Given the description of an element on the screen output the (x, y) to click on. 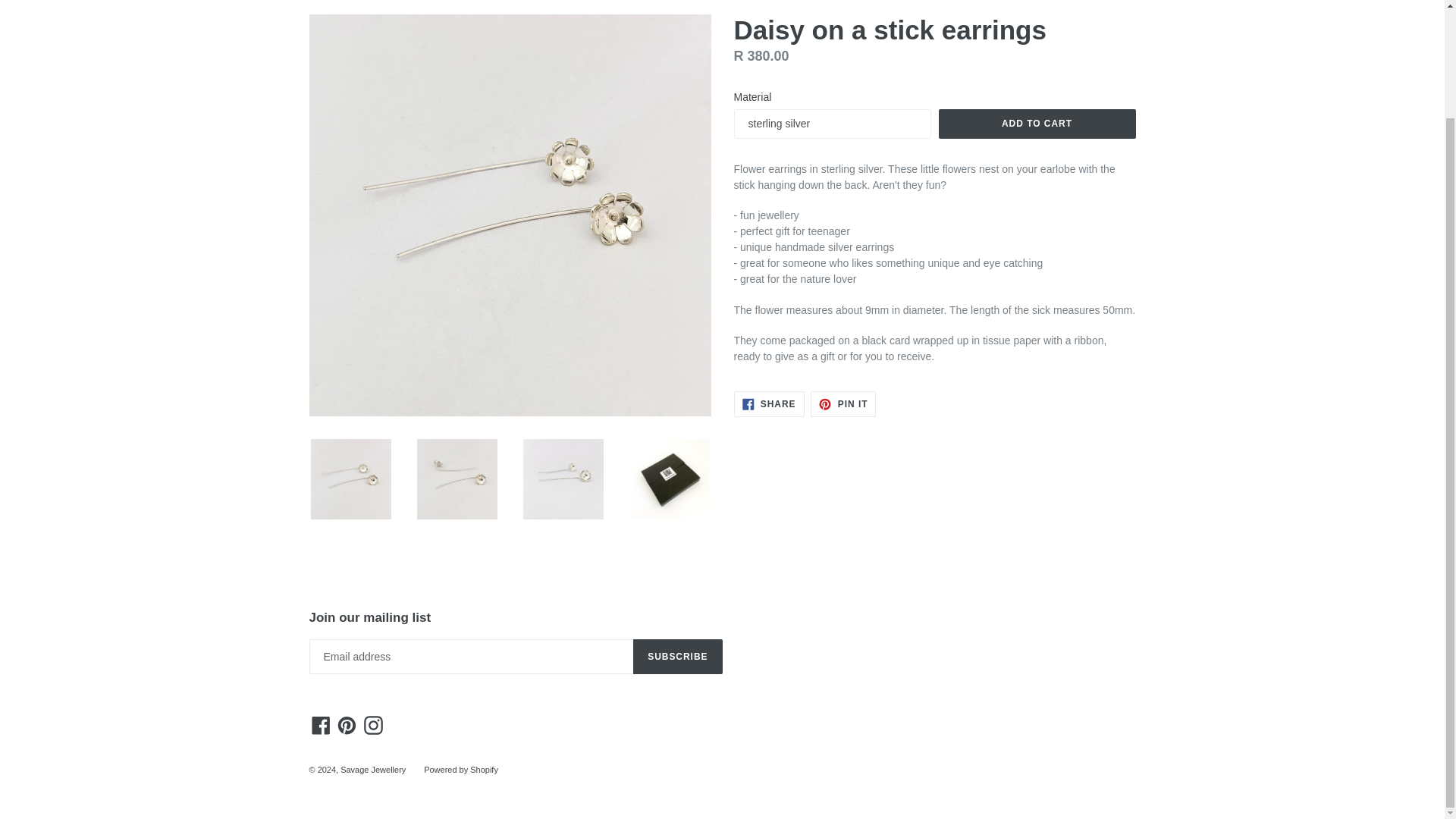
Savage Jewellery on Facebook (320, 724)
Savage Jewellery on Instagram (373, 724)
Savage Jewellery on Pinterest (346, 724)
Pin on Pinterest (843, 403)
Share on Facebook (769, 403)
